Given the description of an element on the screen output the (x, y) to click on. 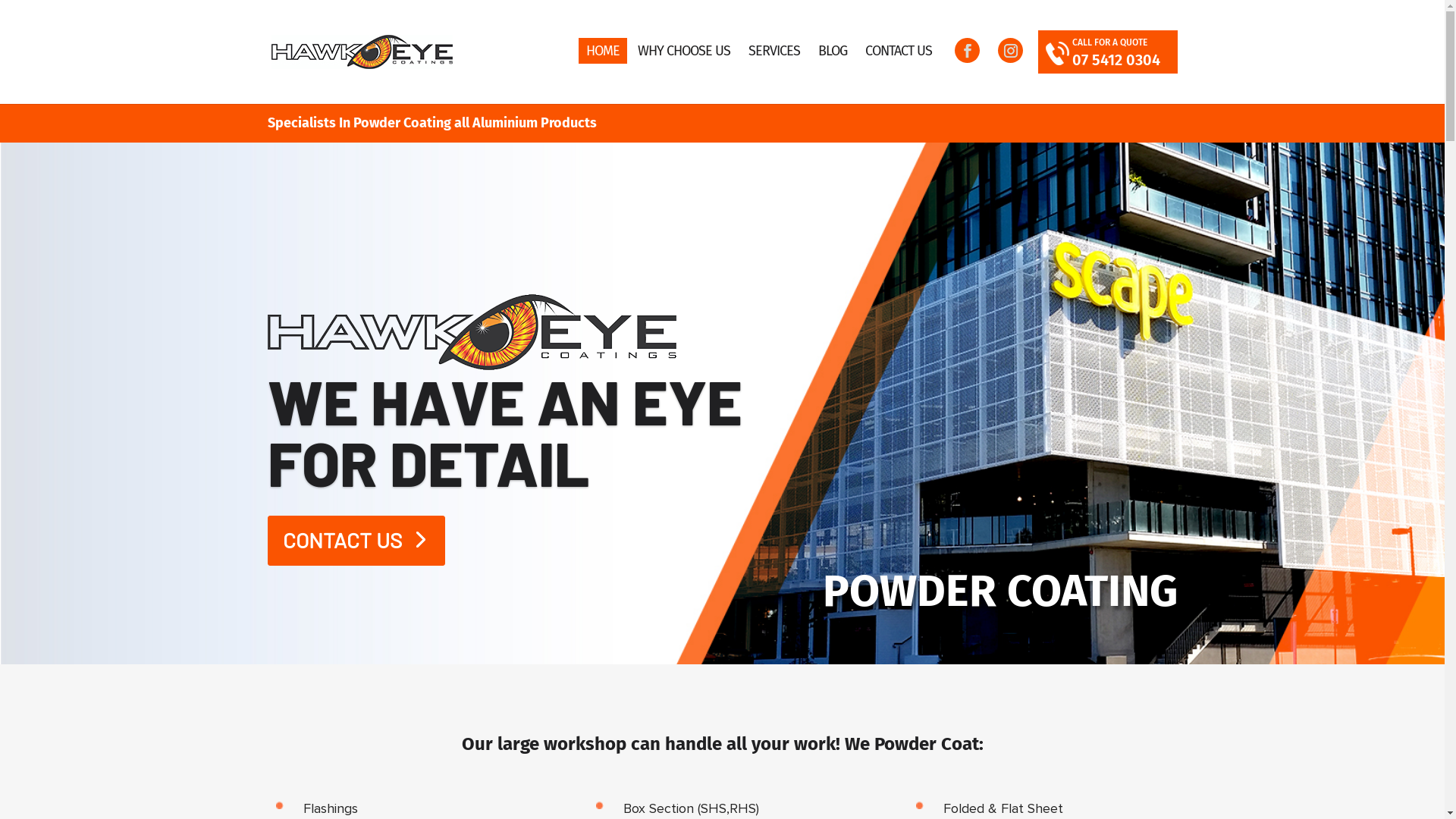
SERVICES Element type: text (773, 50)
WE HAVE AN EYE
FOR DETAIL Element type: text (503, 431)
WHY CHOOSE US Element type: text (683, 50)
07 5412 0304 Element type: text (1116, 59)
HOME Element type: text (601, 50)
BLOG Element type: text (831, 50)
CONTACT US Element type: text (355, 540)
CONTACT US Element type: text (897, 50)
